Given the description of an element on the screen output the (x, y) to click on. 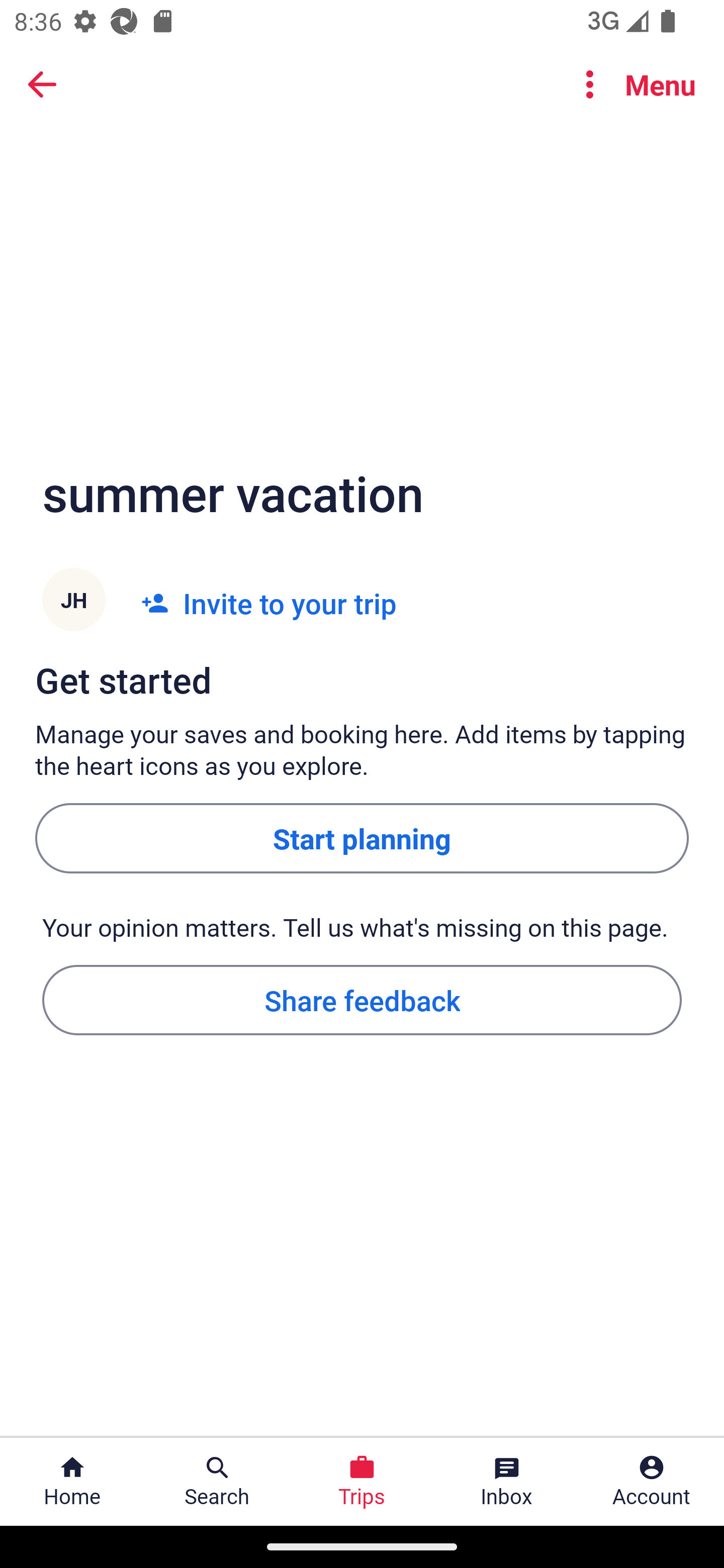
Menu Menu Button (632, 84)
BACK (41, 83)
JH J​H (73, 602)
Share feedback Button Share feedback (361, 999)
Home Home Button (72, 1481)
Search Search Button (216, 1481)
Inbox Inbox Button (506, 1481)
Account Profile. Button (651, 1481)
